Given the description of an element on the screen output the (x, y) to click on. 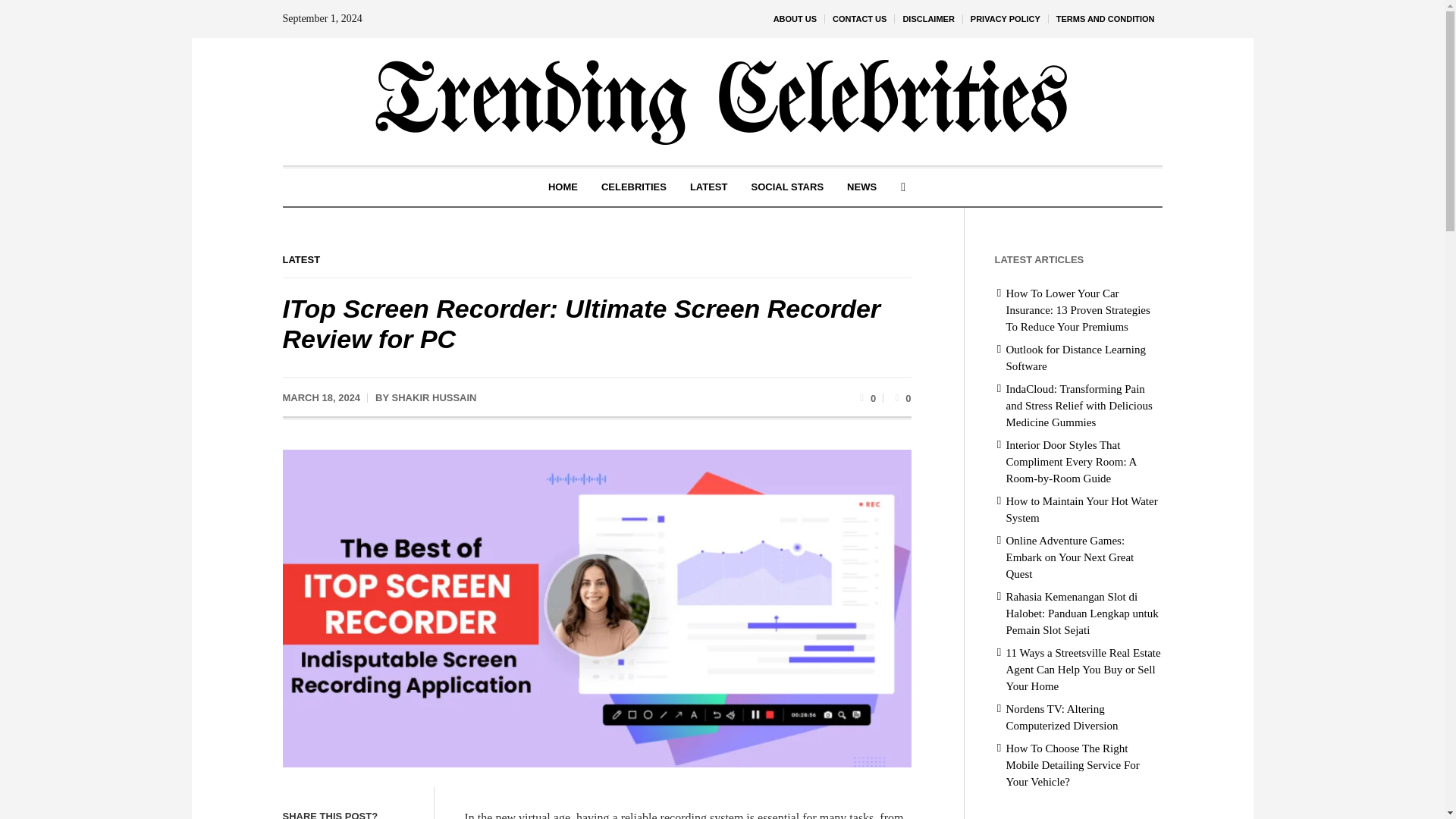
PRIVACY POLICY (1005, 18)
NEWS (861, 187)
SOCIAL STARS (786, 187)
0 (901, 397)
LATEST (301, 259)
DISCLAIMER (927, 18)
CONTACT US (859, 18)
0 (866, 397)
HOME (563, 187)
March 18, 2024 (320, 397)
